Given the description of an element on the screen output the (x, y) to click on. 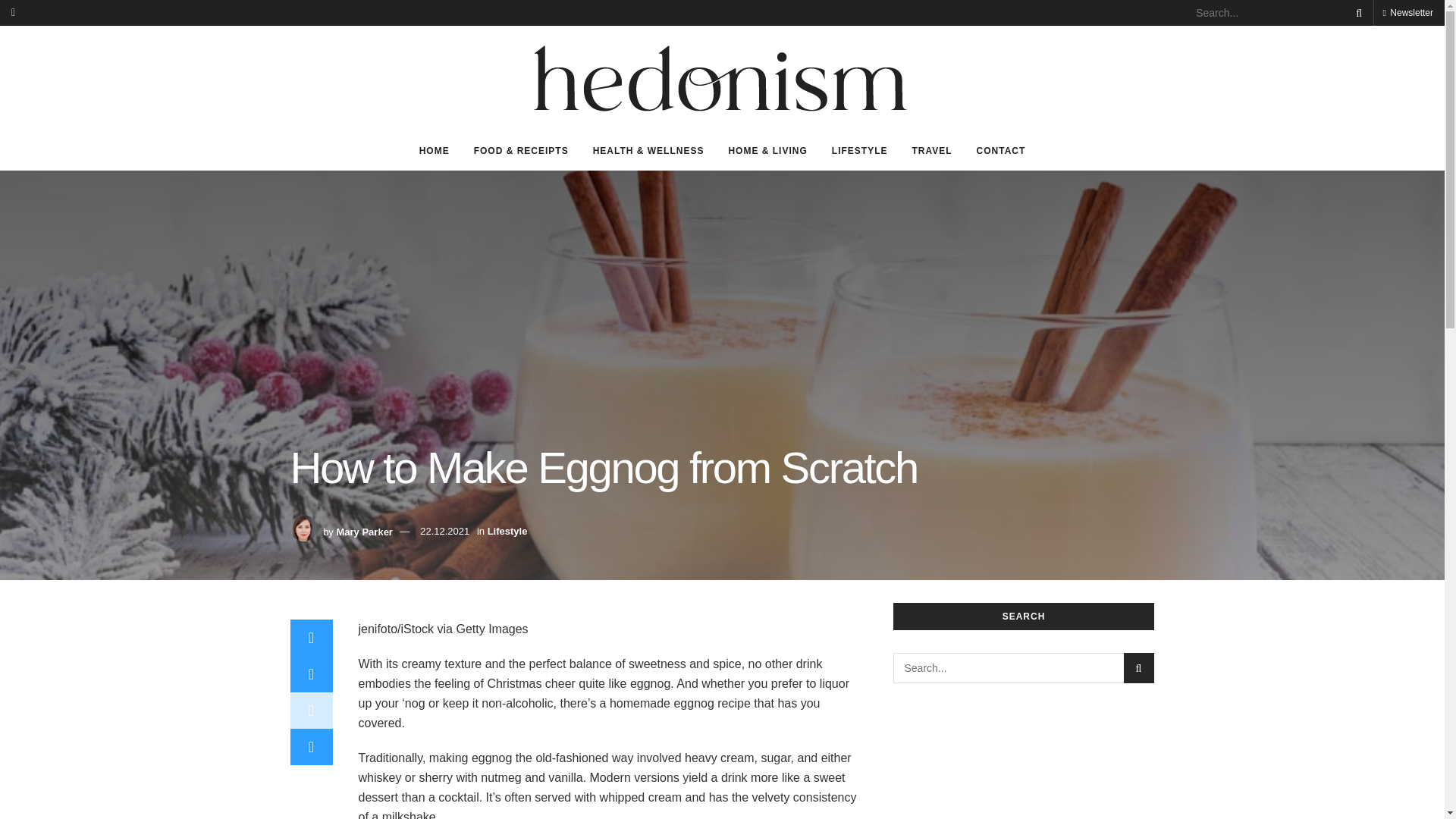
HOME (434, 150)
22.12.2021 (444, 531)
Newsletter (1407, 12)
Lifestyle (507, 531)
TRAVEL (931, 150)
LIFESTYLE (859, 150)
CONTACT (1000, 150)
Mary Parker (363, 531)
